Given the description of an element on the screen output the (x, y) to click on. 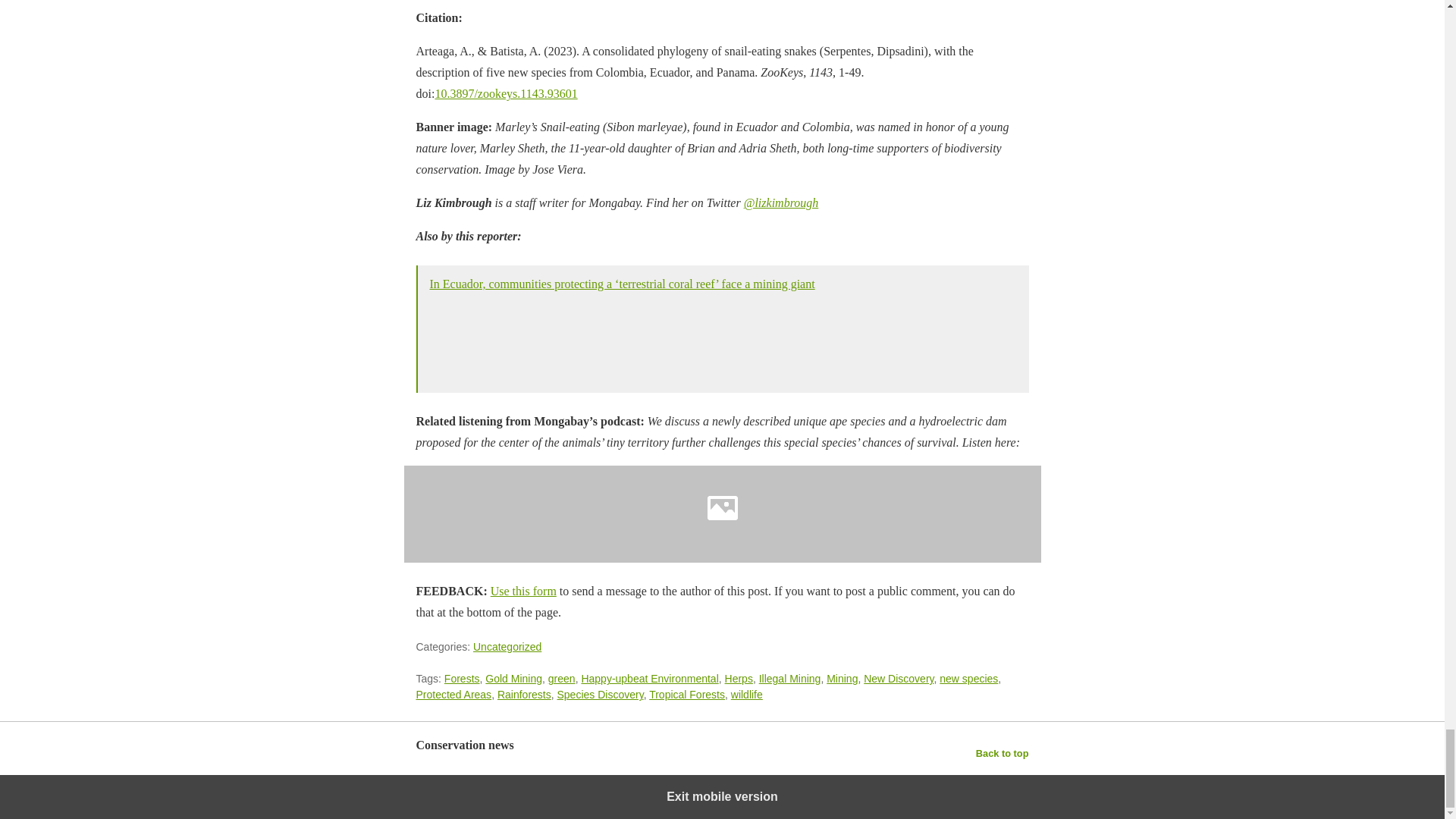
Rainforests (524, 694)
Herps (738, 678)
Use this form (523, 590)
Tropical Forests (687, 694)
Gold Mining (512, 678)
green (561, 678)
wildlife (746, 694)
Illegal Mining (789, 678)
Embed Player (722, 514)
New Discovery (898, 678)
Back to top (1002, 753)
Protected Areas (453, 694)
Mining (842, 678)
Forests (462, 678)
new species (968, 678)
